Given the description of an element on the screen output the (x, y) to click on. 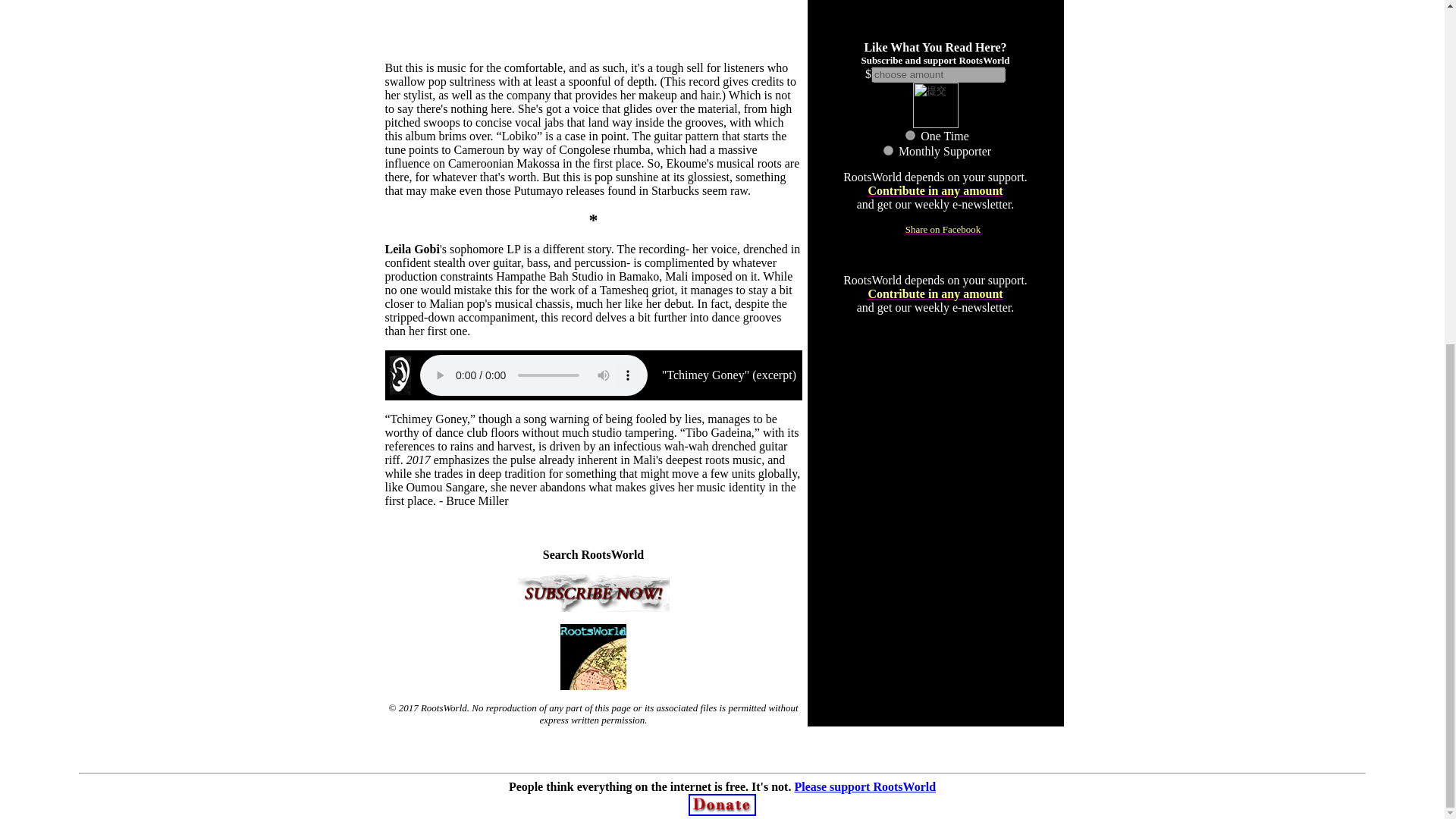
D (910, 135)
Share on Facebook (935, 228)
M (888, 150)
Contribute in any amount (935, 293)
choose amount (938, 74)
Contribute in any amount (935, 190)
